Given the description of an element on the screen output the (x, y) to click on. 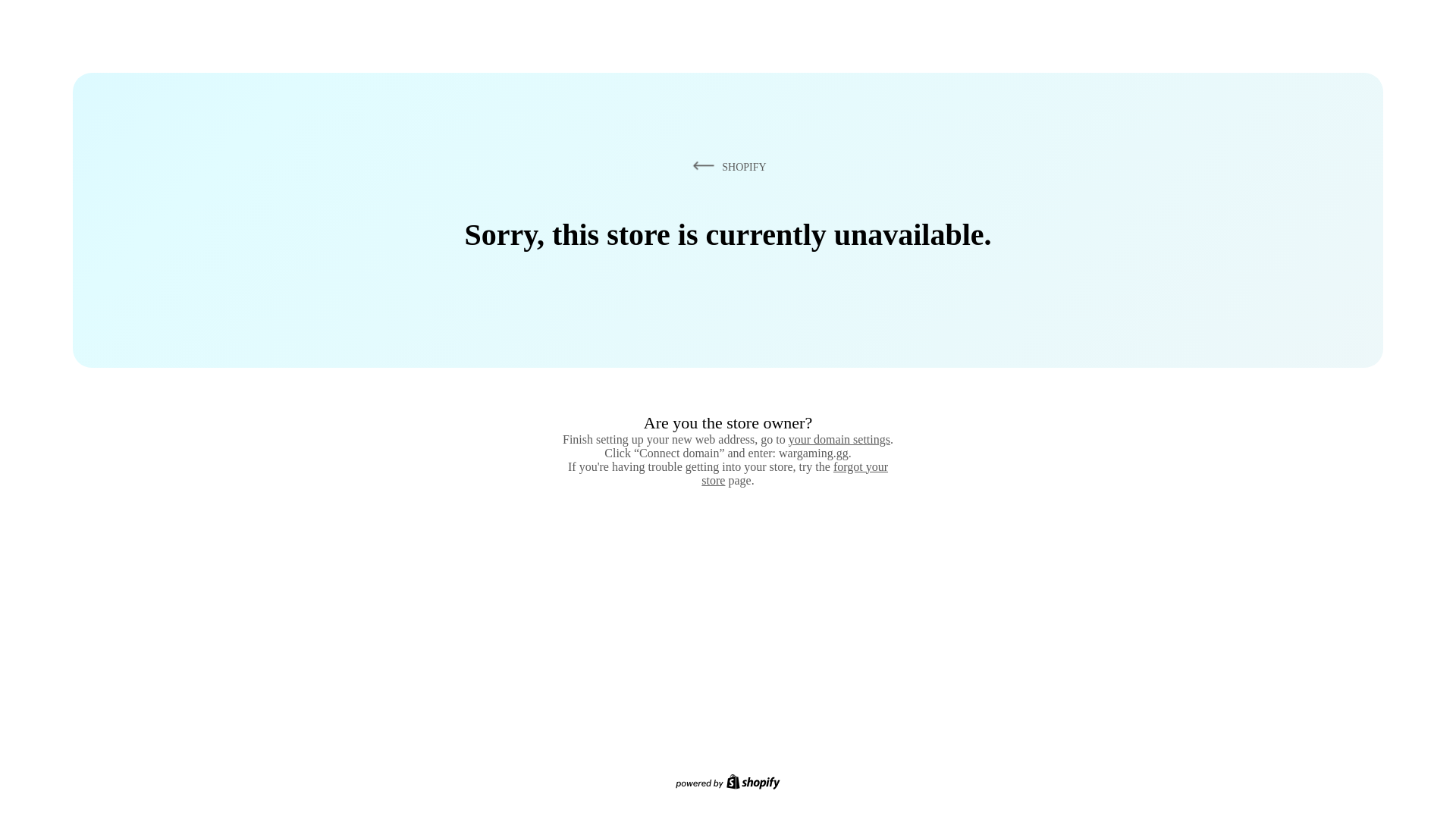
your domain settings (839, 439)
forgot your store (794, 473)
SHOPIFY (726, 166)
